Given the description of an element on the screen output the (x, y) to click on. 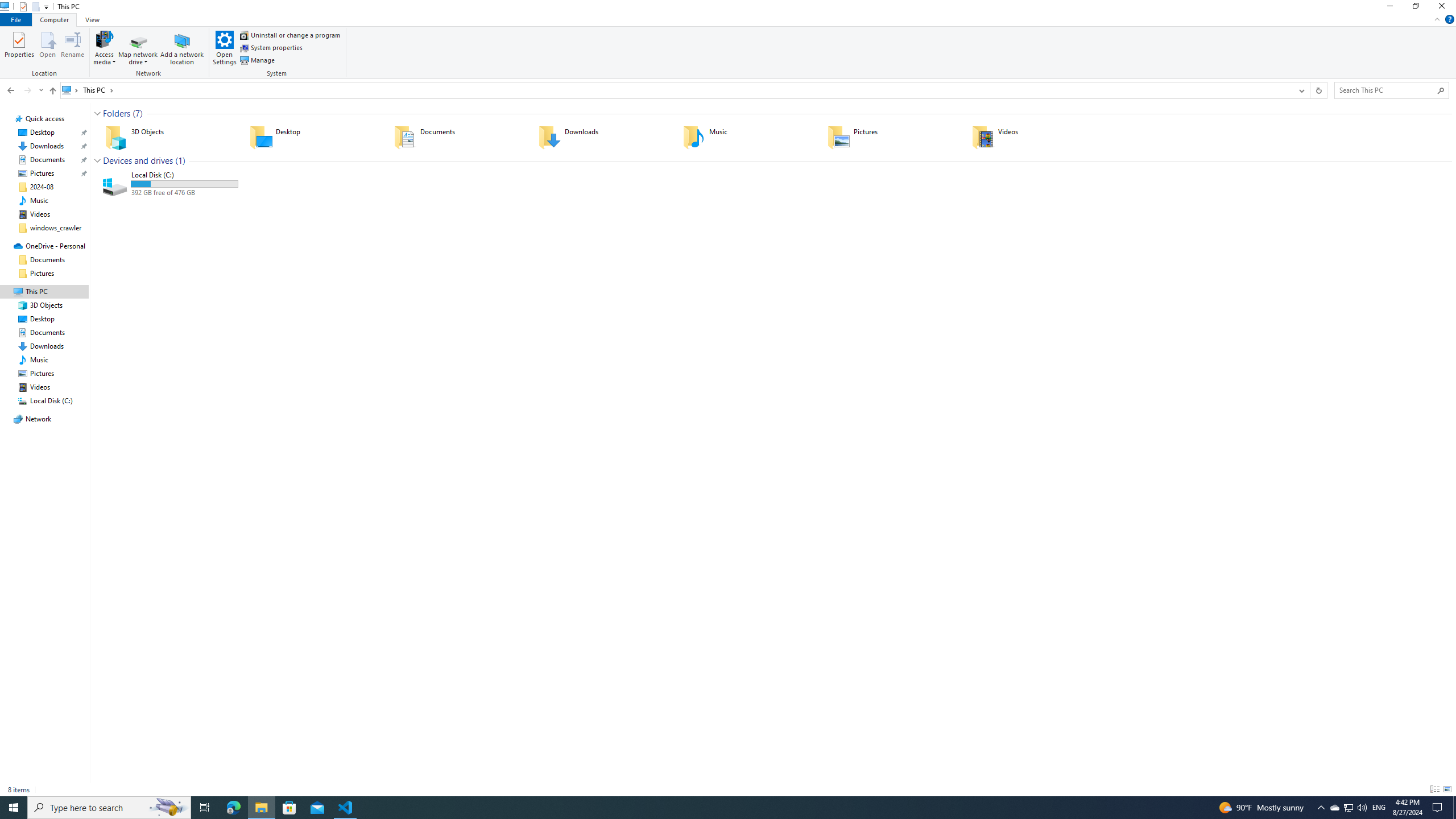
Back to 3D Objects (Alt + Left Arrow) (10, 90)
Local Disk (C:) (170, 184)
Downloads (pinned) (47, 146)
Recent locations (40, 90)
Large Icons (1447, 789)
Music (39, 200)
Quick access (44, 118)
Address band toolbar (1309, 90)
